Given the description of an element on the screen output the (x, y) to click on. 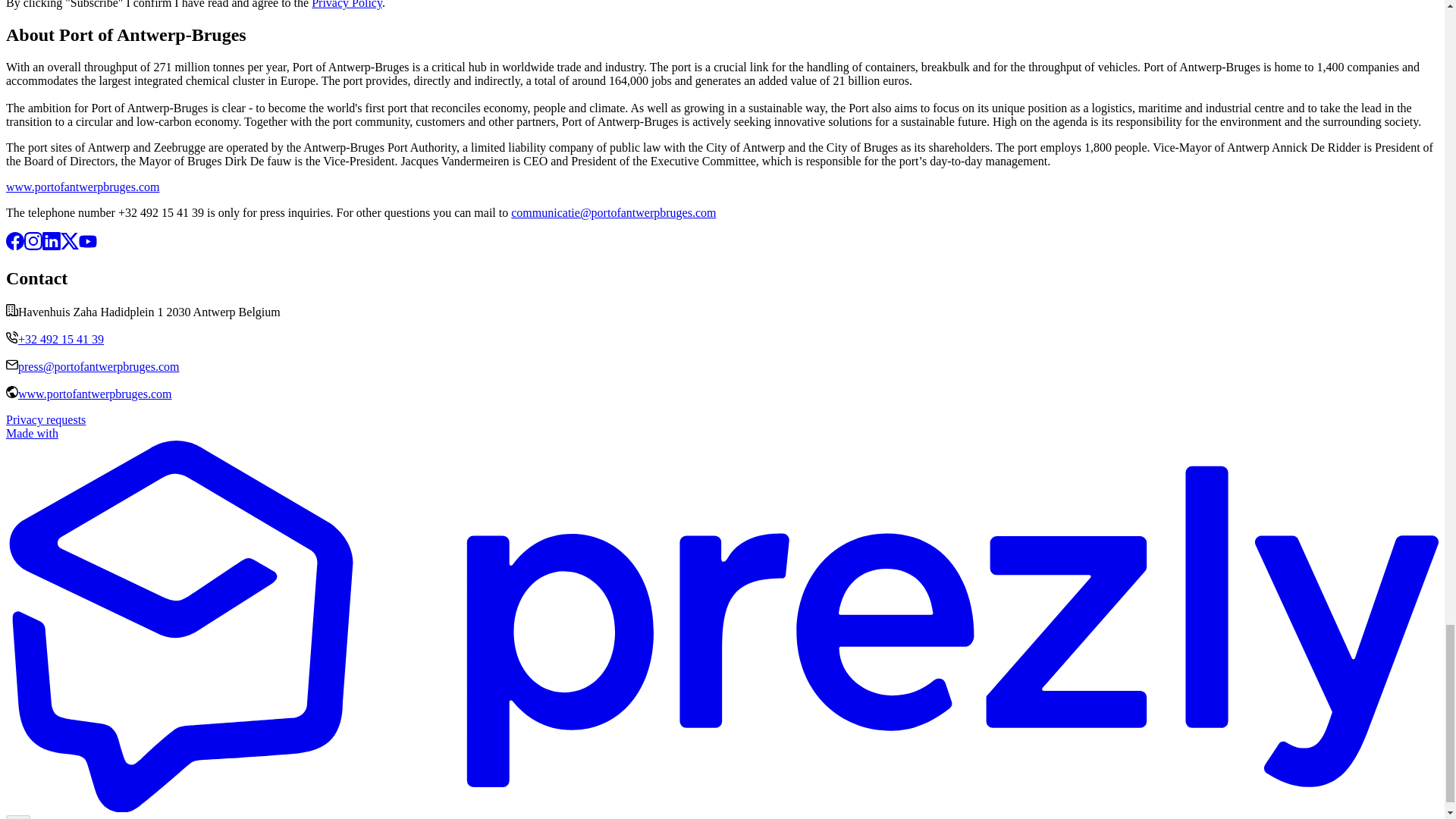
X (69, 245)
Privacy requests (45, 419)
www.portofantwerpbruges.com (94, 393)
Facebook (14, 245)
www.portofantwerpbruges.com (81, 186)
Privacy Policy (346, 4)
Instagram (33, 245)
LinkedIn (51, 245)
Youtube (87, 245)
